Given the description of an element on the screen output the (x, y) to click on. 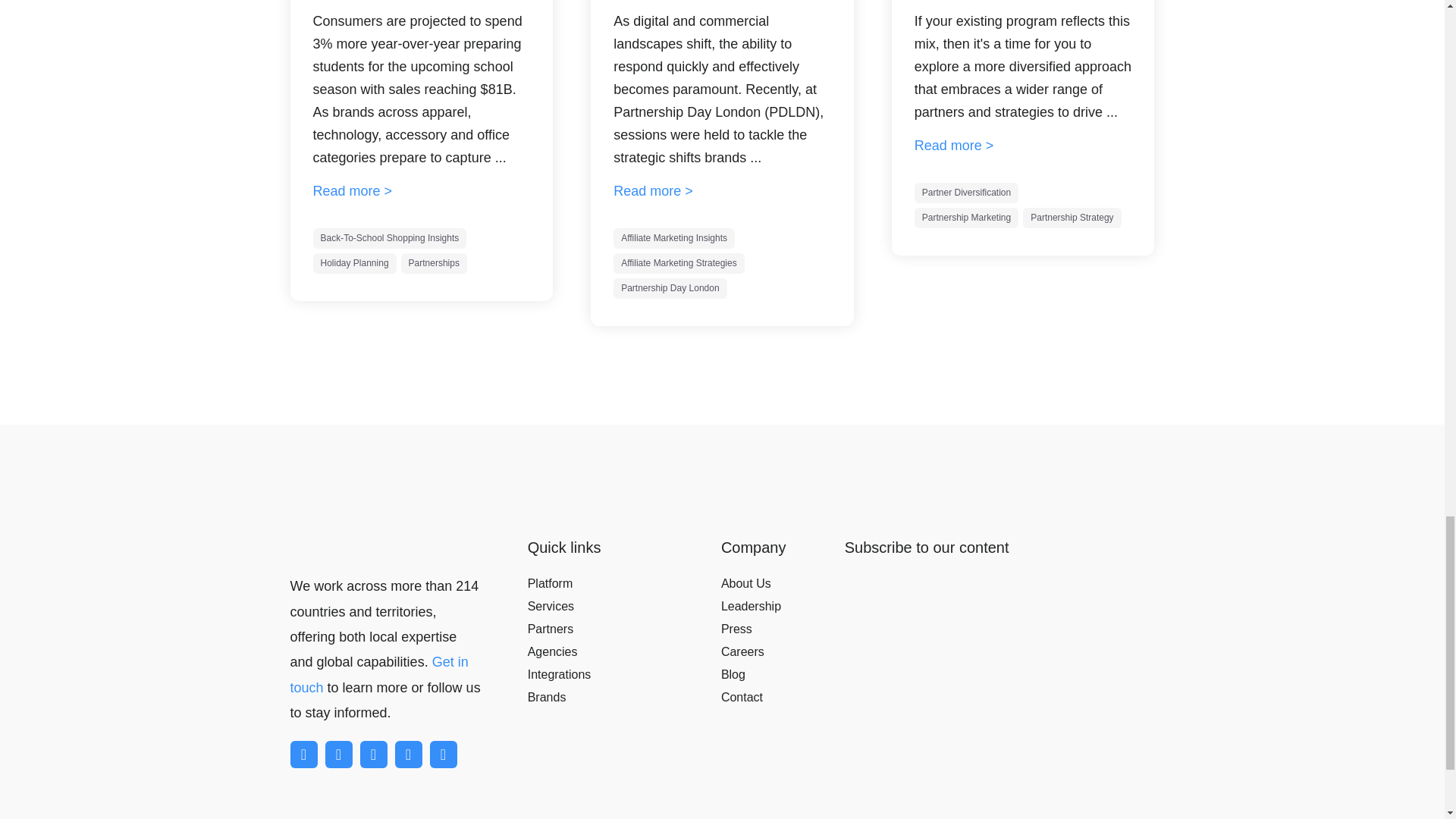
Partnerize (357, 543)
English (976, 818)
